Given the description of an element on the screen output the (x, y) to click on. 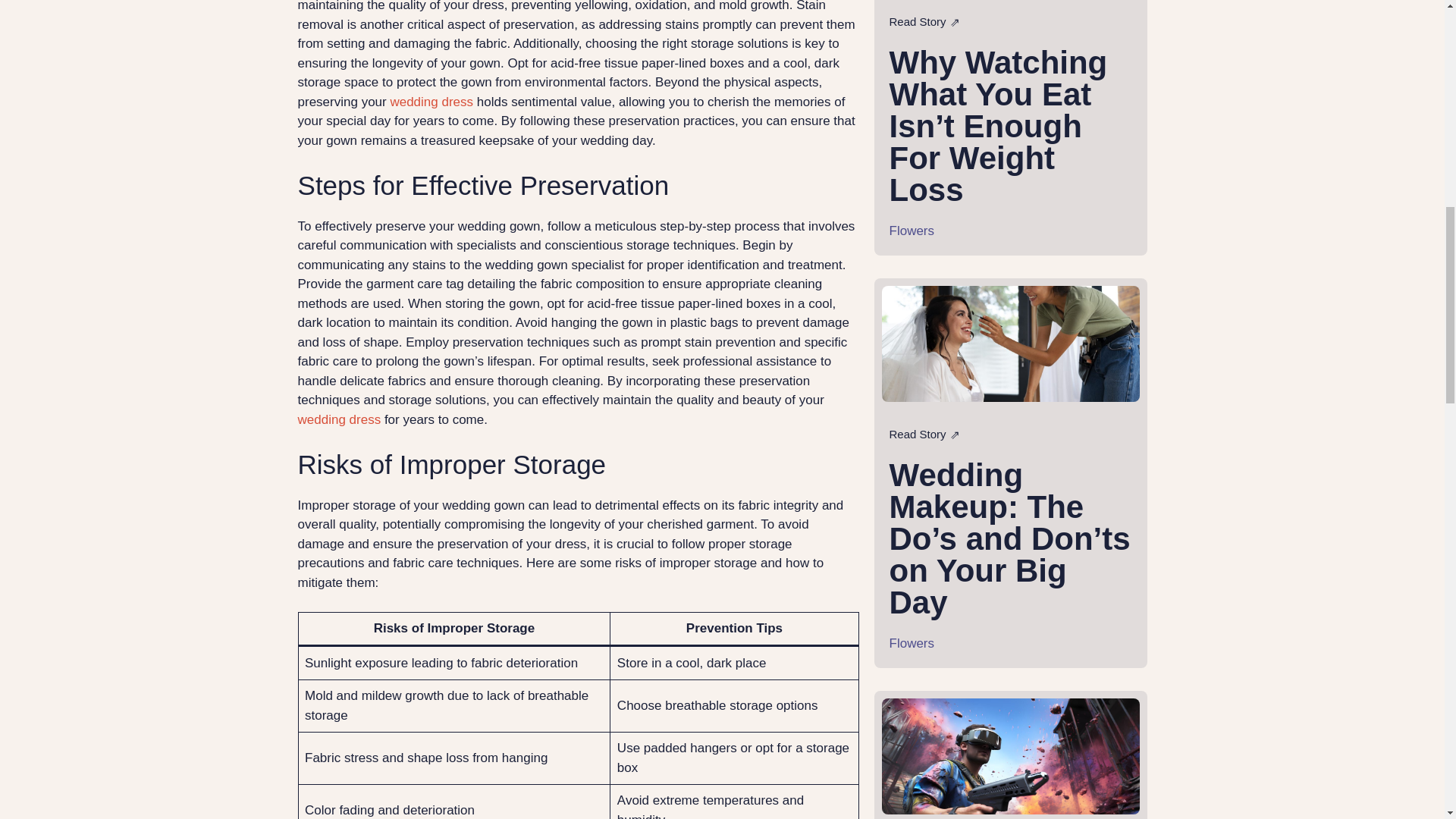
wedding dress (431, 101)
Flowers (911, 229)
wedding dress (339, 419)
Flowers (911, 642)
